Given the description of an element on the screen output the (x, y) to click on. 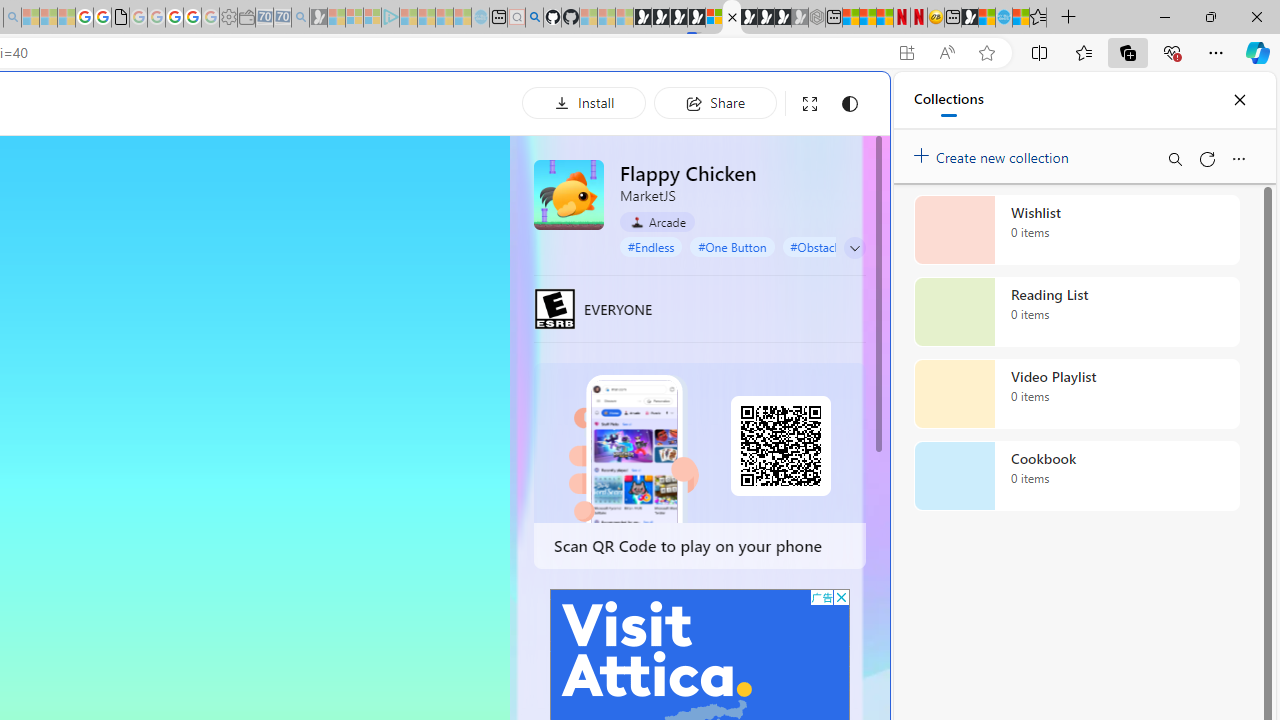
Create new collection (994, 153)
App available. Install Flappy Chicken (906, 53)
Reading List collection, 0 items (1076, 312)
Play Cave FRVR in your browser | Games from Microsoft Start (343, 426)
Frequently visited (418, 265)
google_privacy_policy_zh-CN.pdf (120, 17)
Video Playlist collection, 0 items (1076, 394)
Full screen (810, 103)
